Given the description of an element on the screen output the (x, y) to click on. 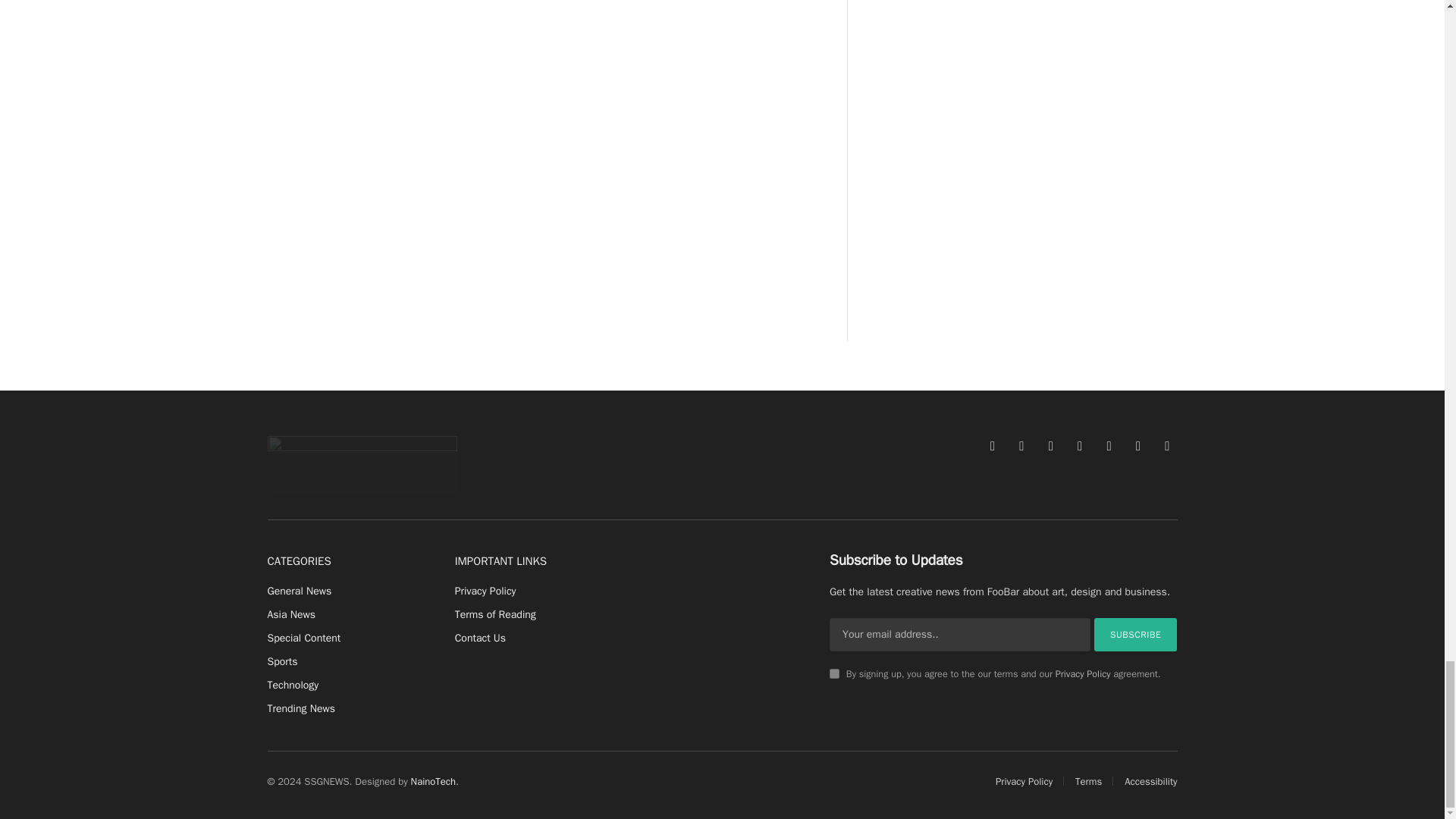
on (834, 673)
Subscribe (1135, 634)
